Given the description of an element on the screen output the (x, y) to click on. 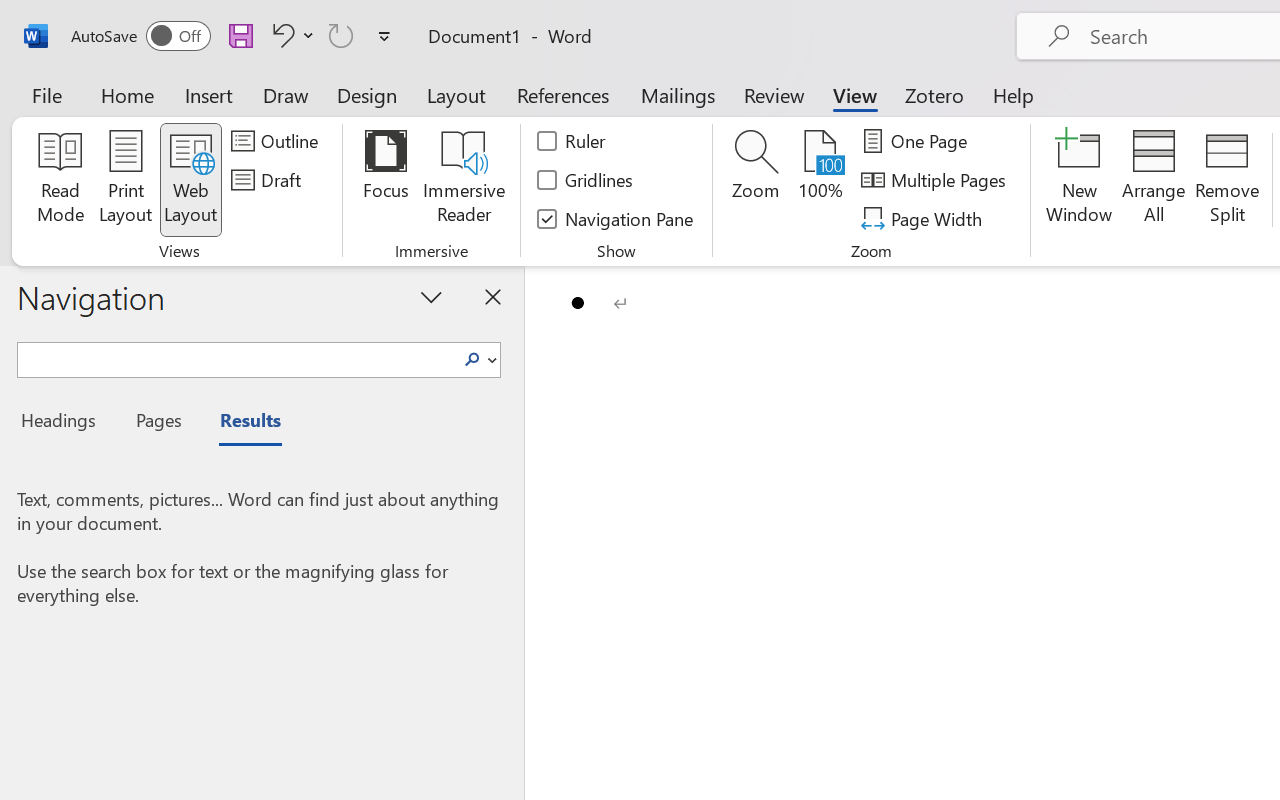
100% (820, 179)
Focus (385, 179)
Headings (64, 423)
Ruler (572, 141)
Draft (269, 179)
Gridlines (586, 179)
Arrange All (1153, 179)
Multiple Pages (936, 179)
Pages (156, 423)
